Given the description of an element on the screen output the (x, y) to click on. 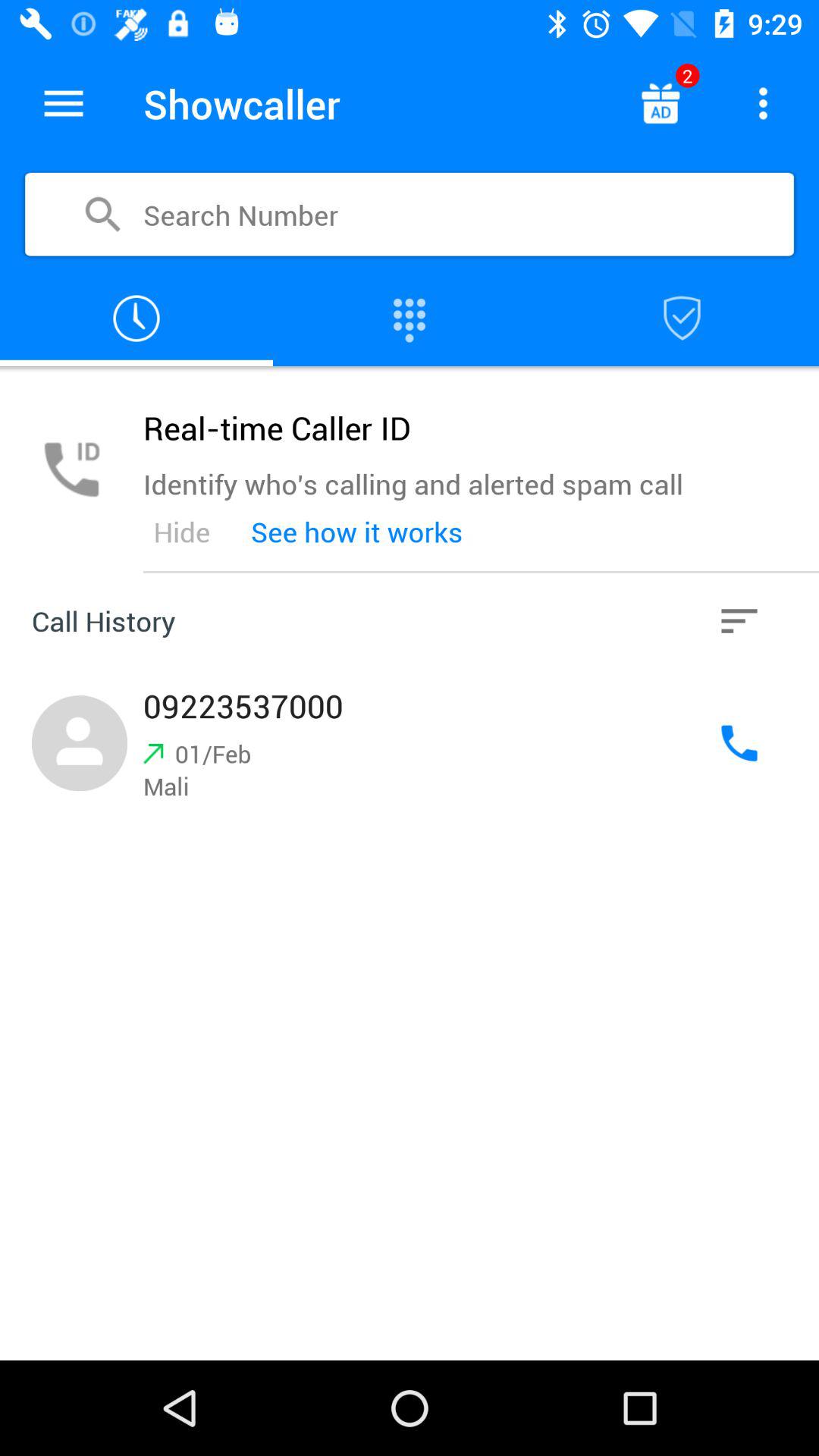
open dialer (409, 318)
